Given the description of an element on the screen output the (x, y) to click on. 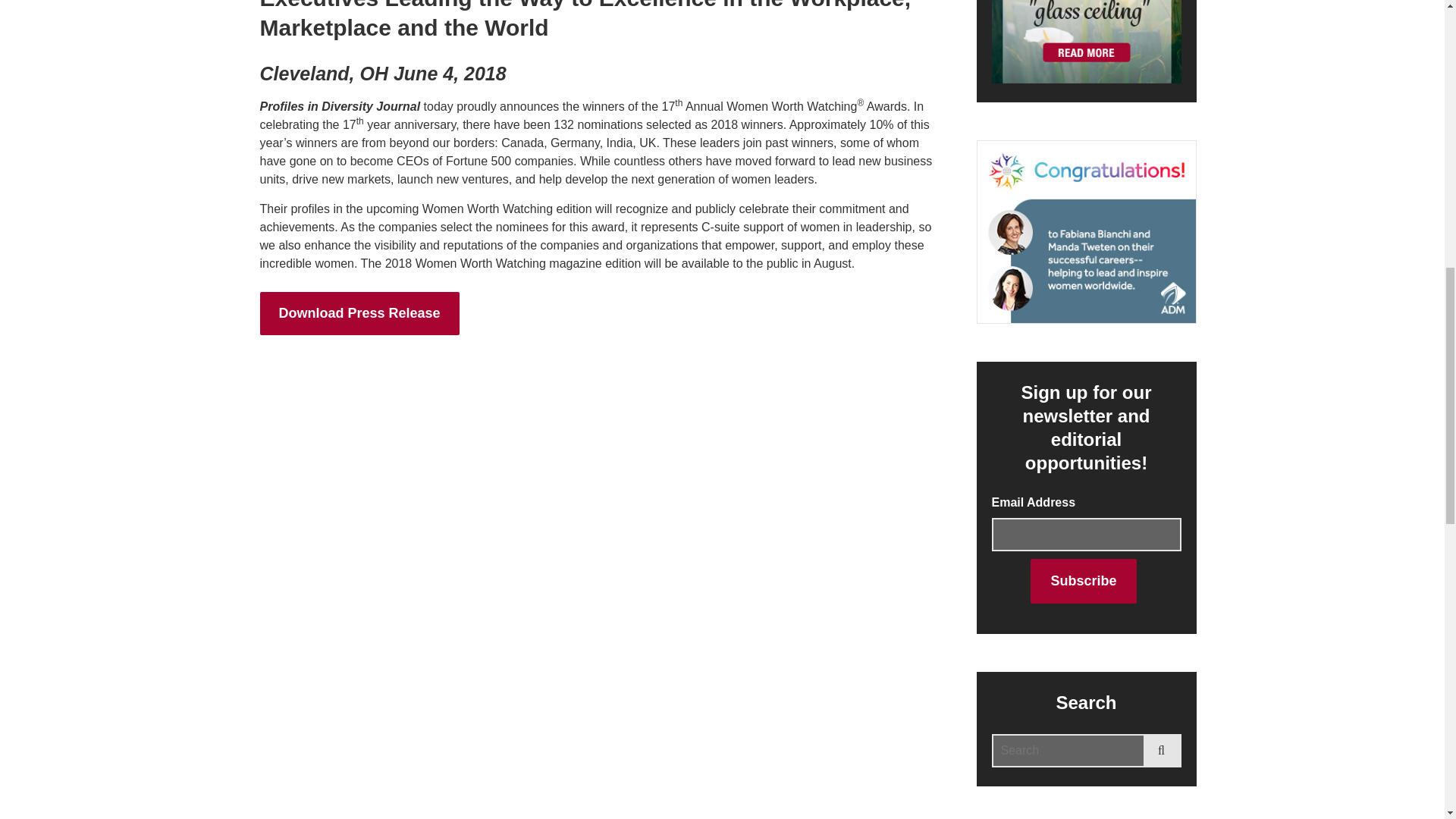
Subscribe (1082, 580)
